Given the description of an element on the screen output the (x, y) to click on. 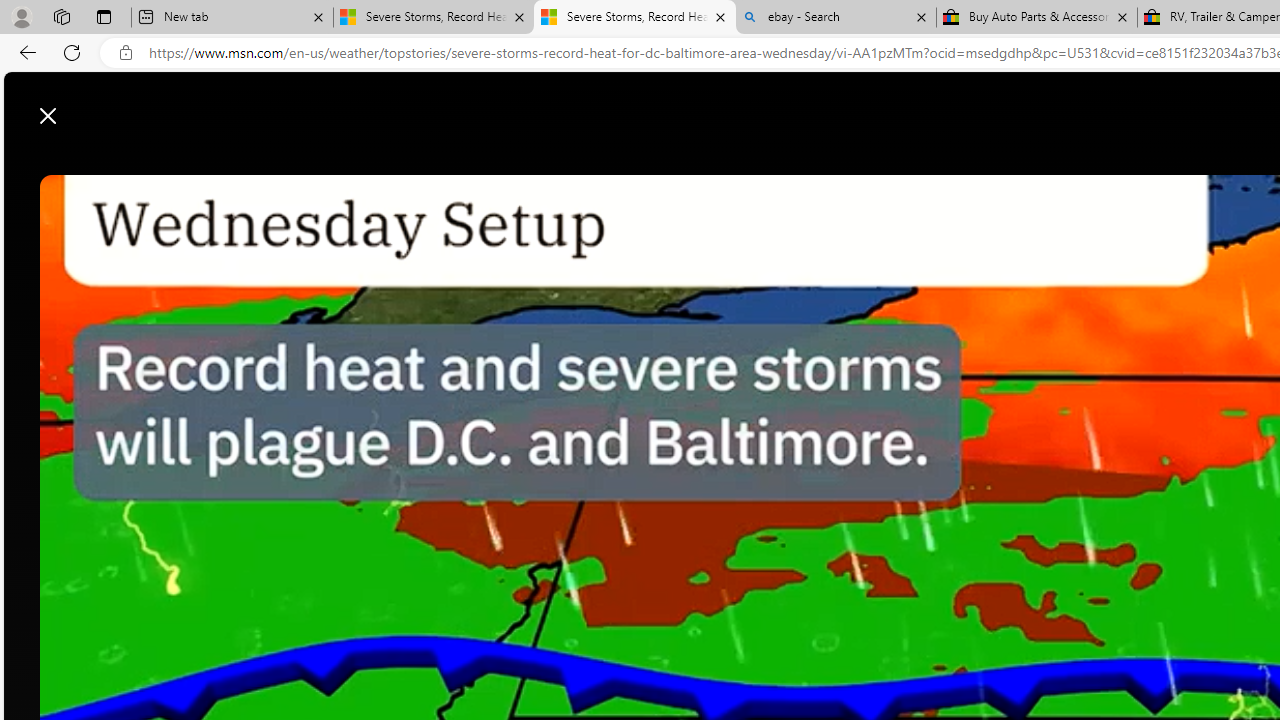
Microsoft Start (94, 105)
Skip to content (86, 105)
ebay - Search (835, 17)
Watch (734, 162)
Following (658, 162)
